Given the description of an element on the screen output the (x, y) to click on. 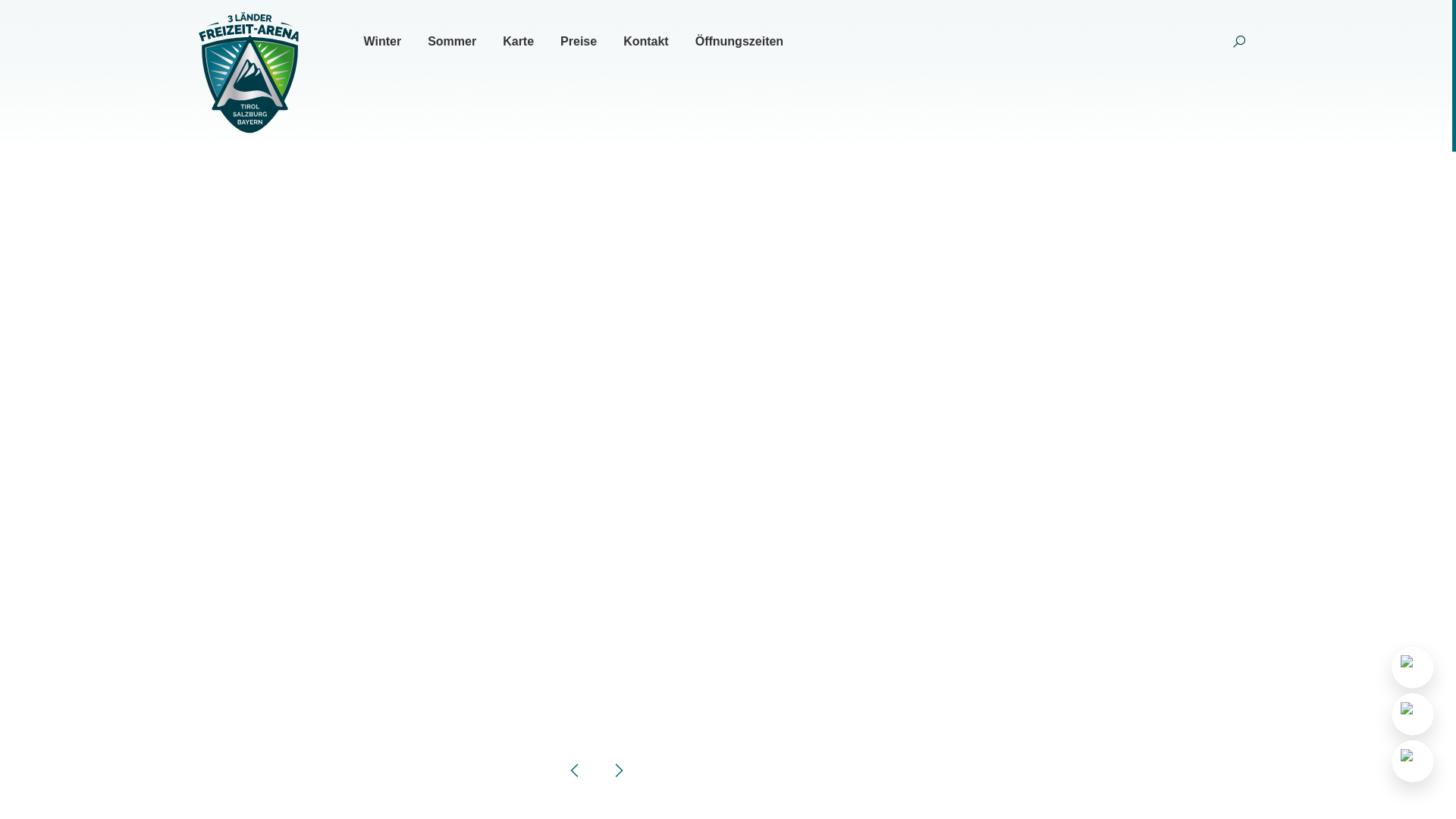
Preise Element type: text (578, 41)
Winter Element type: text (382, 41)
Karte Element type: text (517, 41)
Kontakt Element type: text (645, 41)
Sommer Element type: text (451, 41)
